Given the description of an element on the screen output the (x, y) to click on. 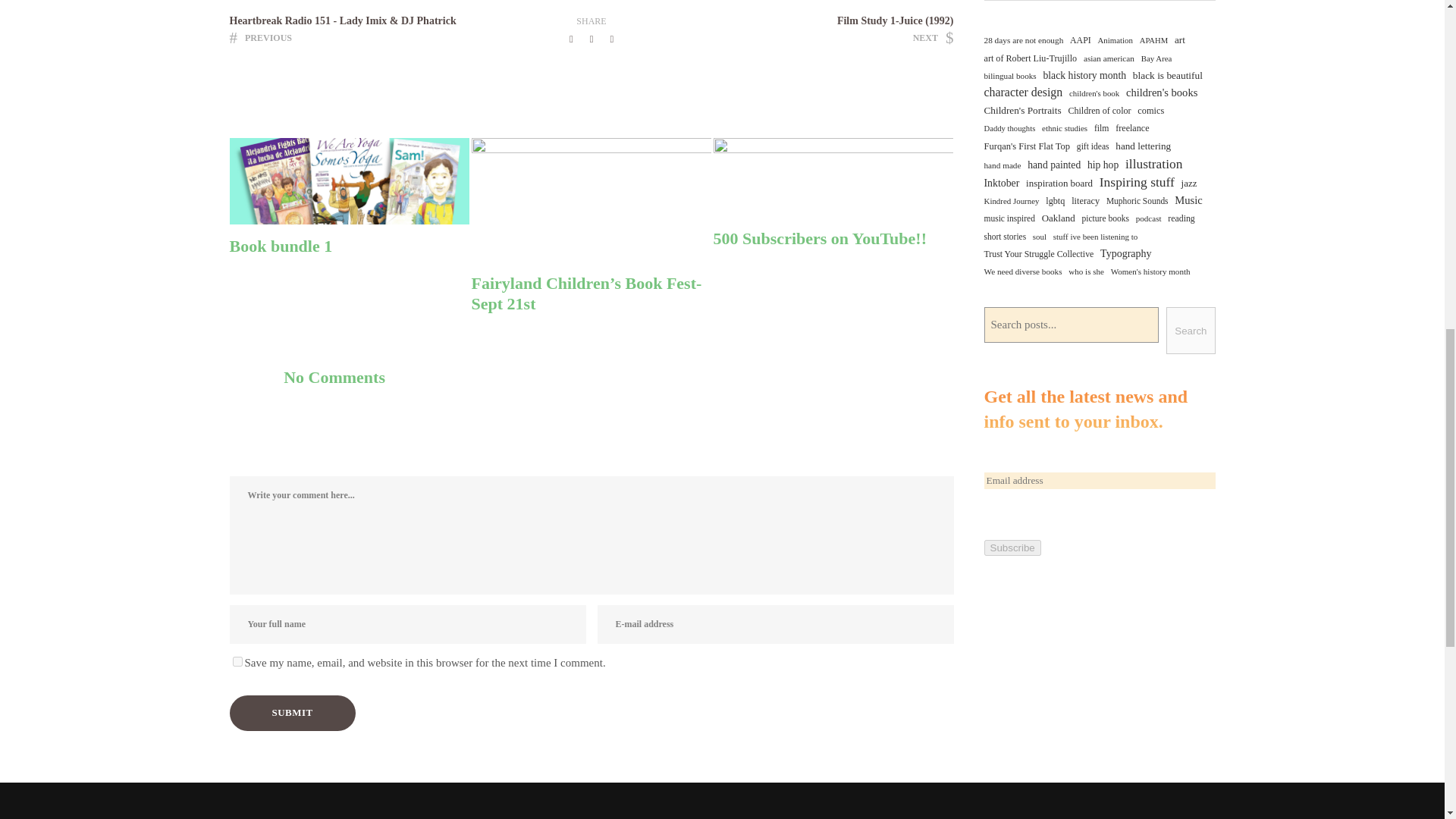
Book bundle 1 (348, 246)
500 Subscribers on YouTube!! (833, 238)
Book bundle 1 (348, 246)
Submit (291, 713)
yes (236, 661)
